Given the description of an element on the screen output the (x, y) to click on. 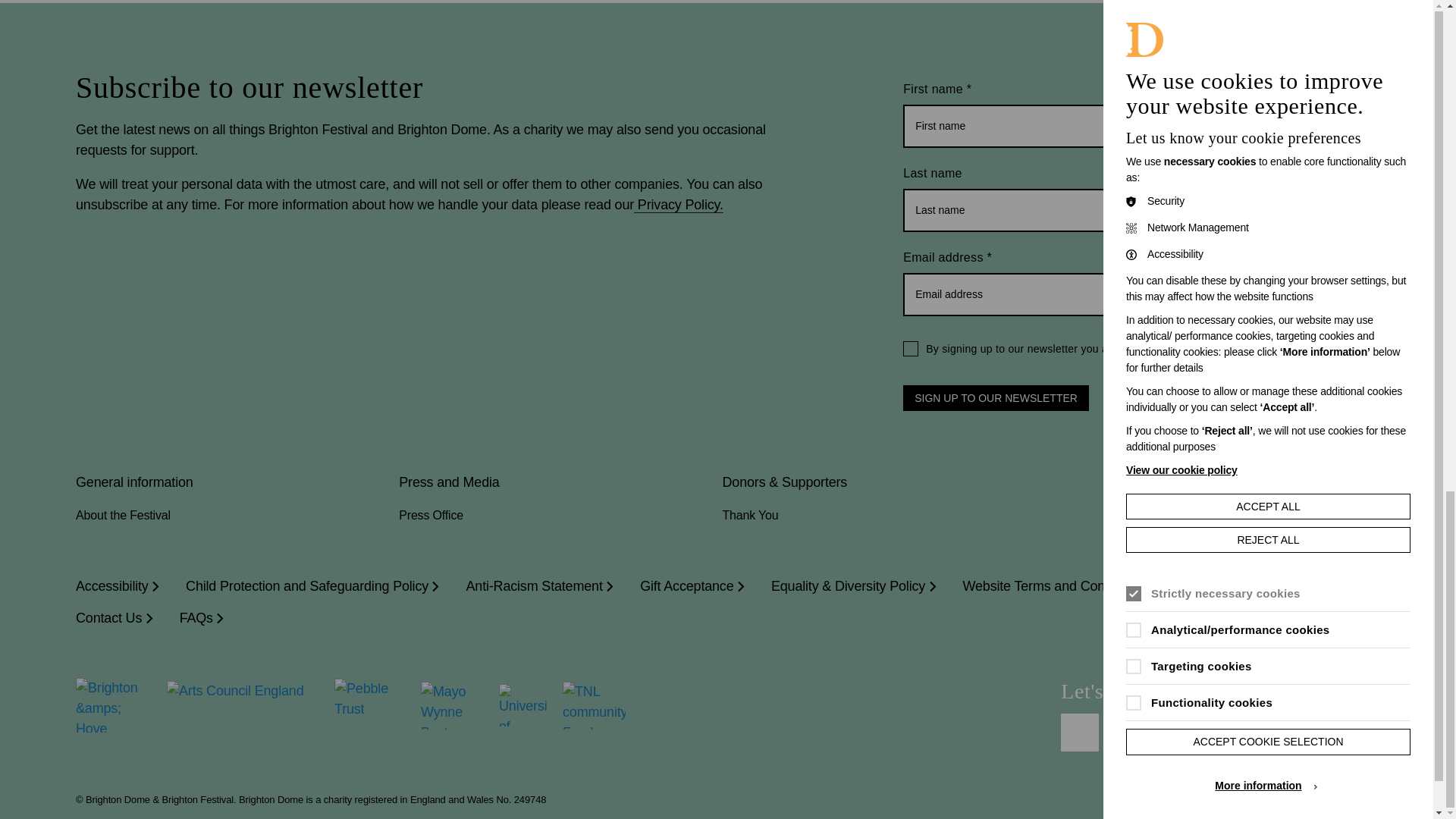
LinkedIn (1170, 732)
X (1215, 732)
Instagram (1125, 732)
Facebook (1080, 732)
